Given the description of an element on the screen output the (x, y) to click on. 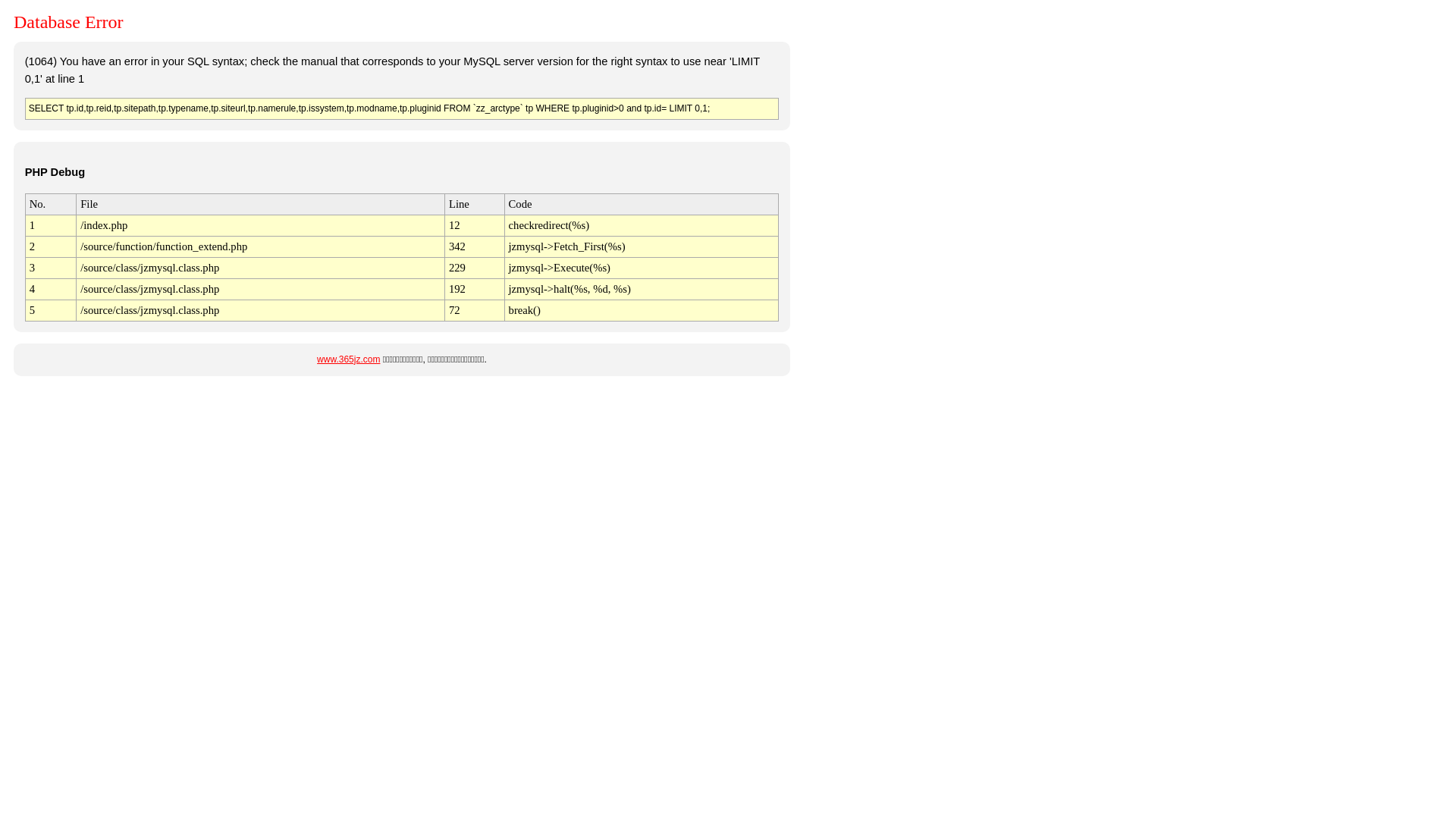
www.365jz.com Element type: text (347, 359)
